Given the description of an element on the screen output the (x, y) to click on. 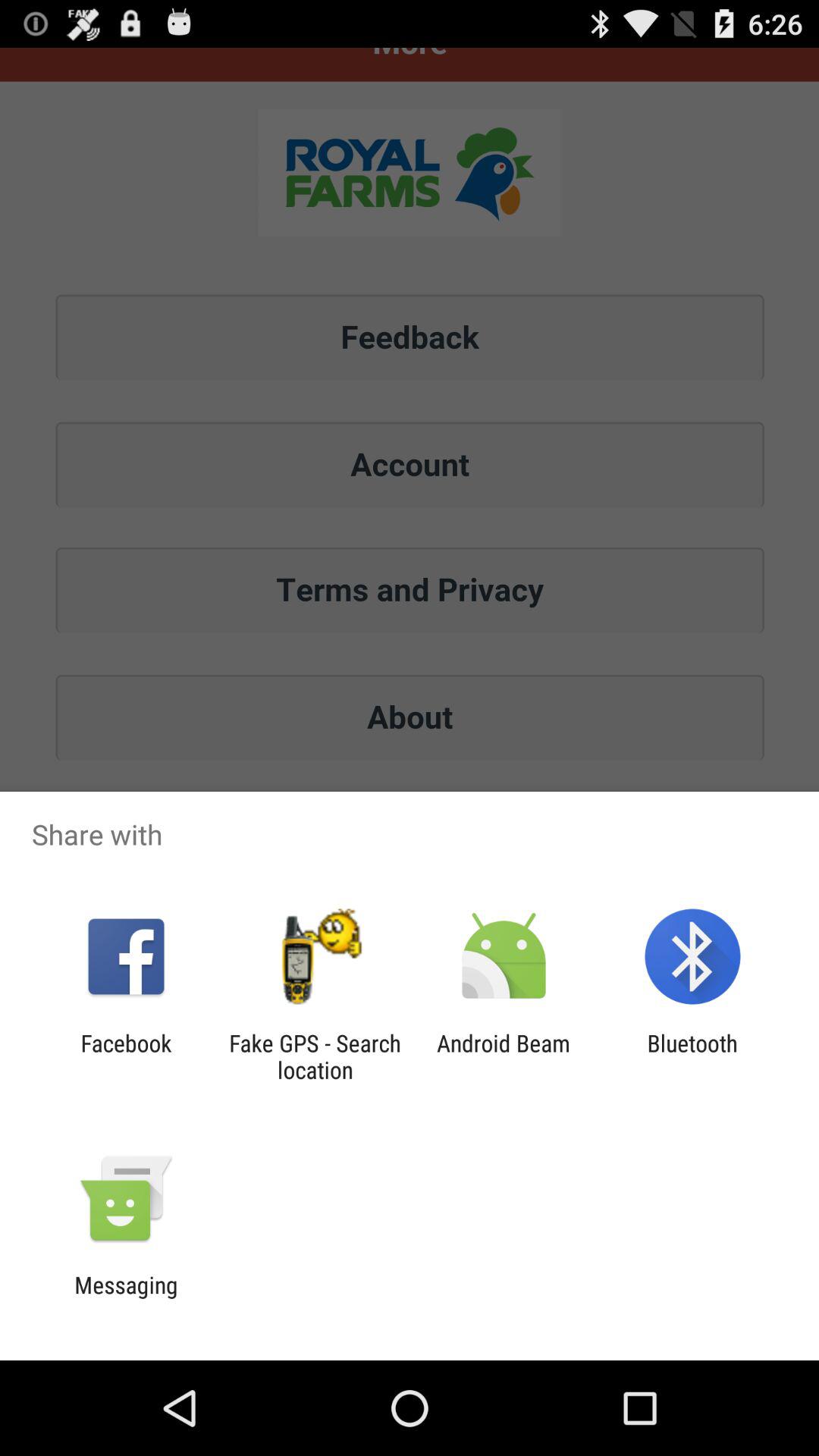
open bluetooth app (692, 1056)
